Given the description of an element on the screen output the (x, y) to click on. 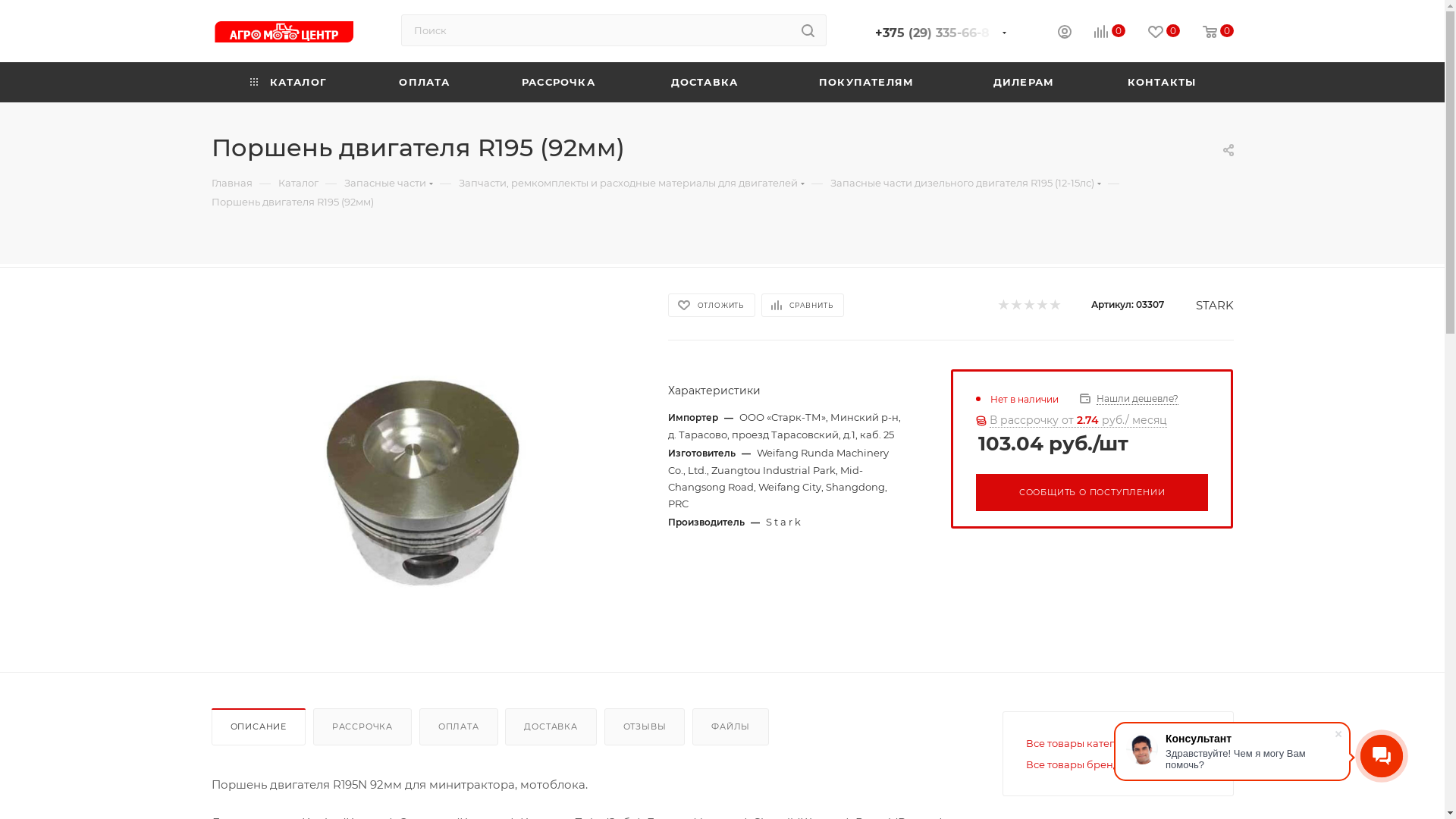
0 Element type: text (1152, 31)
STARK Element type: text (1214, 305)
+375 (29) 335-66-8 Element type: text (936, 32)
0 Element type: text (1206, 31)
0 Element type: text (1097, 31)
